Given the description of an element on the screen output the (x, y) to click on. 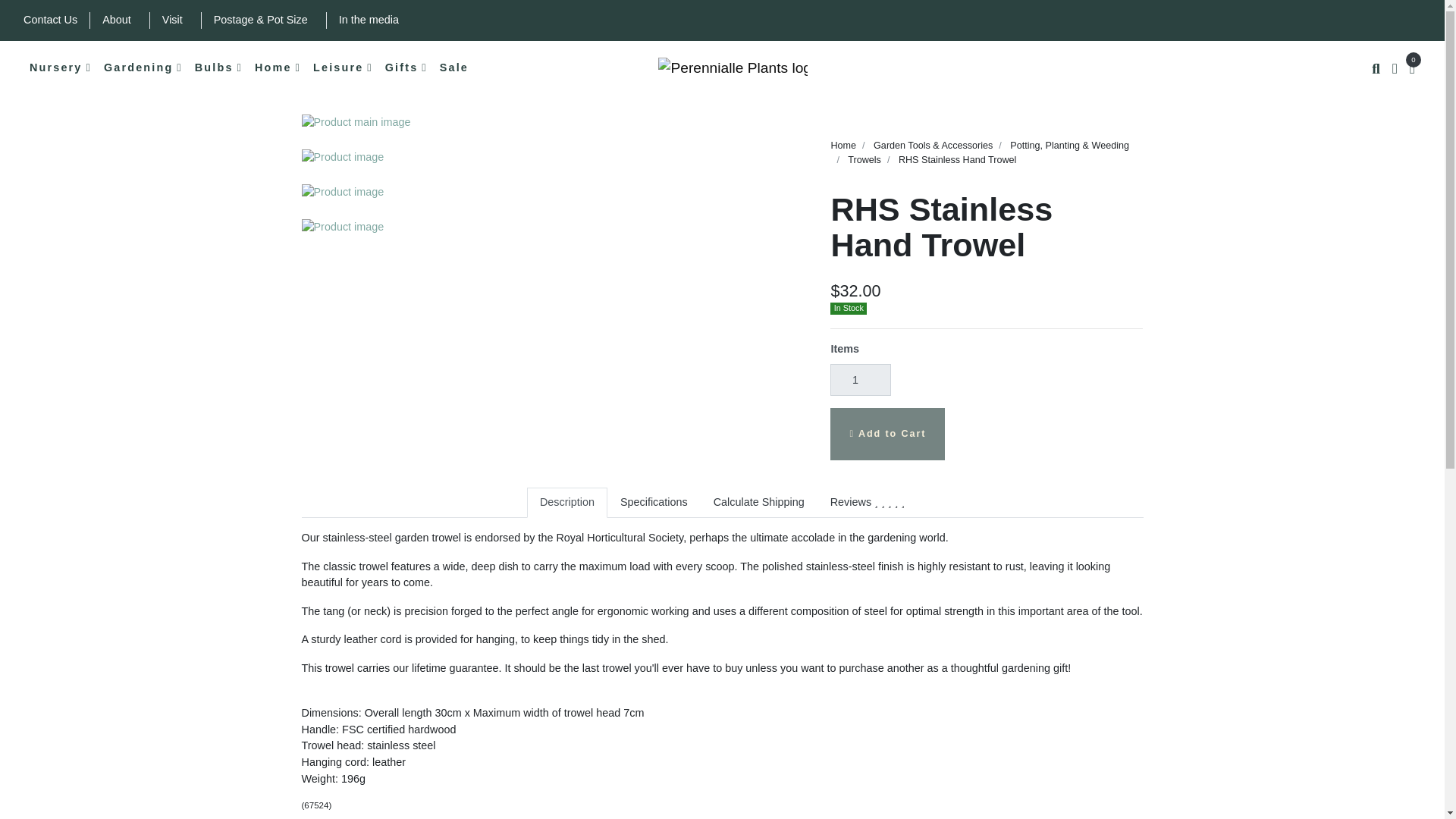
1 (860, 379)
Contact Us (50, 19)
Gardening (143, 68)
About (116, 19)
Nursery (60, 68)
Perennialle Plants (732, 68)
Add RHS Stainless Hand Trowel to Cart (886, 433)
Visit (172, 19)
In the media (368, 19)
